Given the description of an element on the screen output the (x, y) to click on. 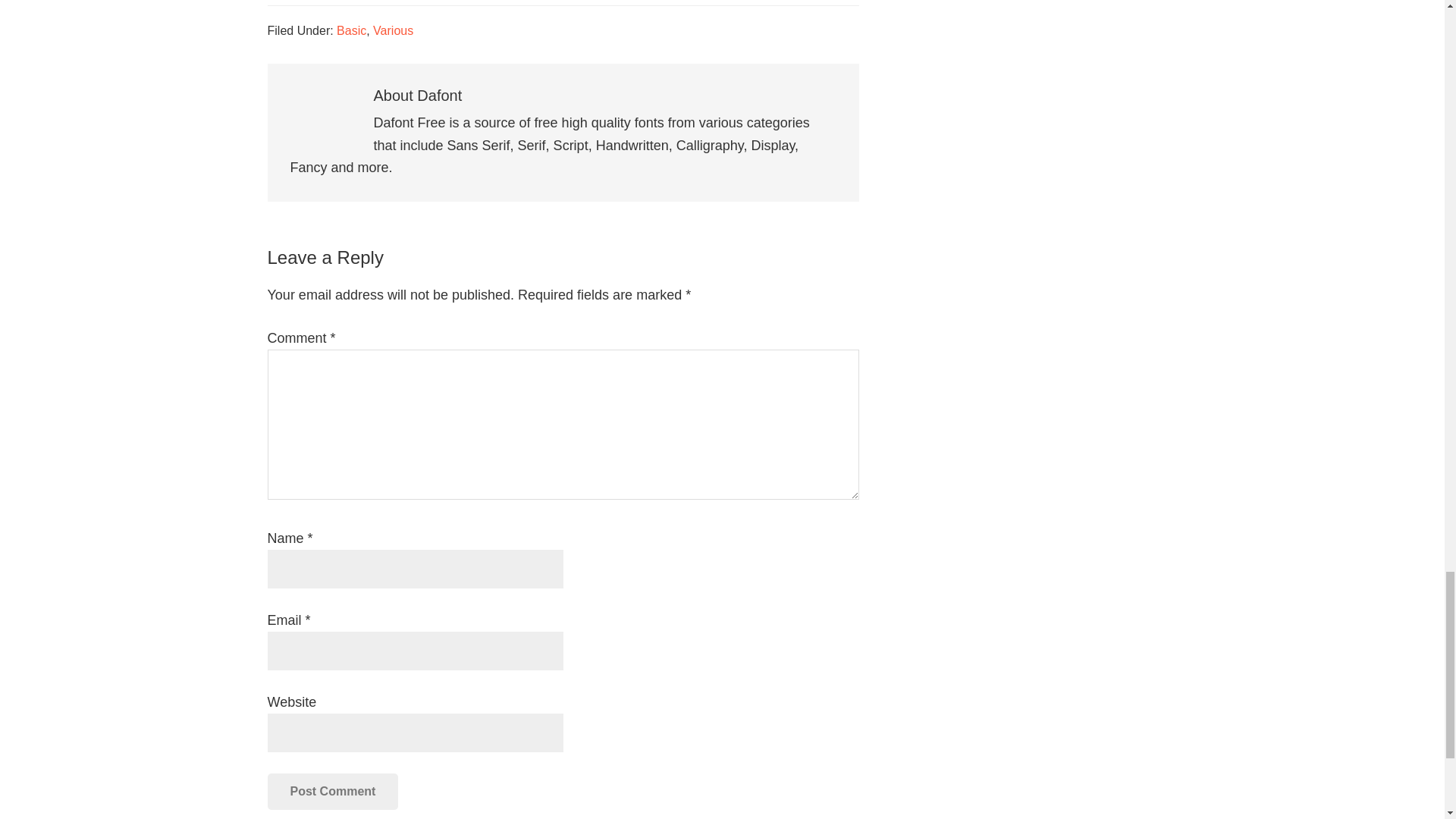
Post Comment (331, 791)
Various (392, 30)
Basic (351, 30)
Post Comment (331, 791)
